Given the description of an element on the screen output the (x, y) to click on. 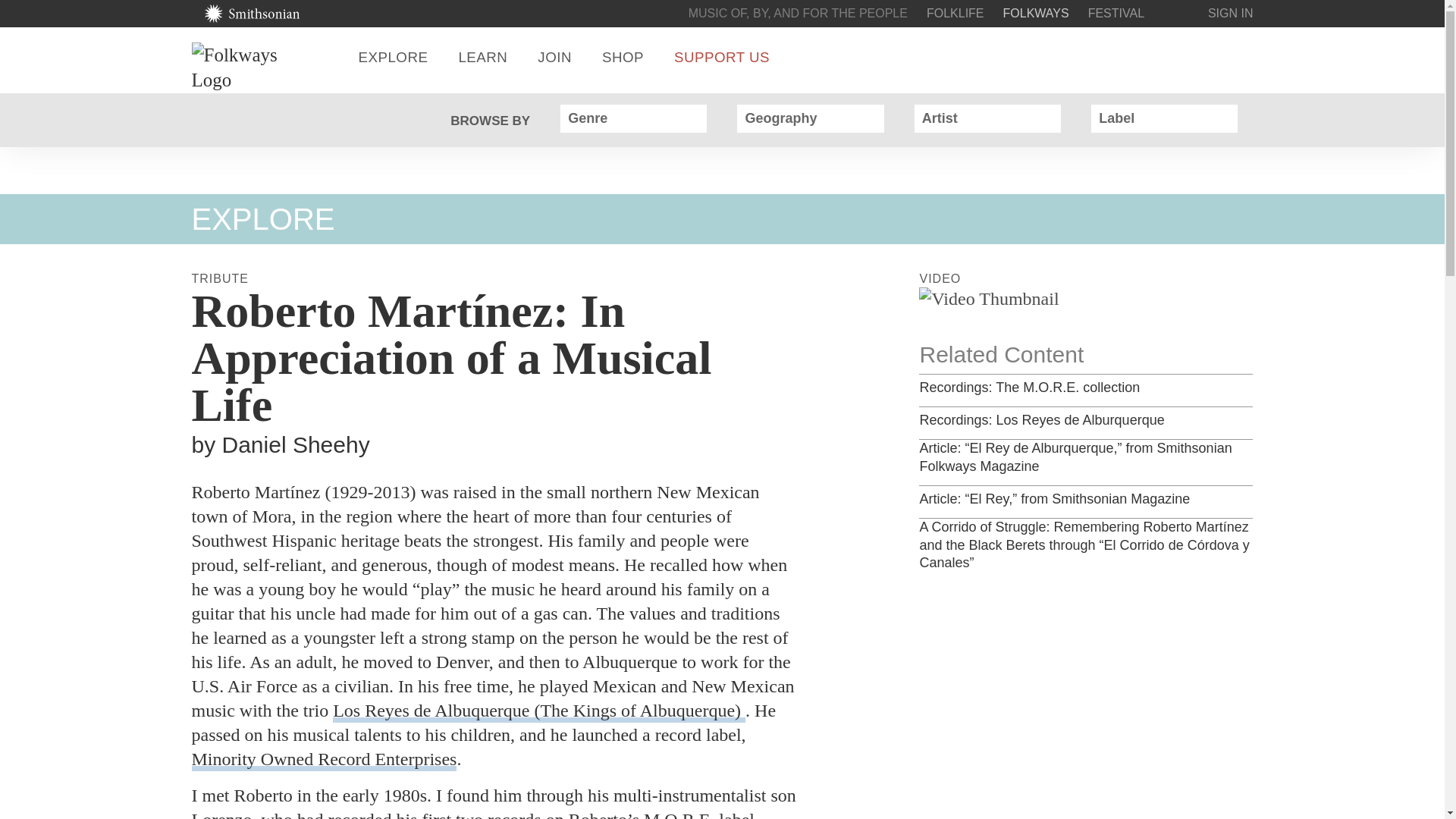
share (1198, 56)
FOLKWAYS (1035, 12)
menu (1243, 57)
menu (1244, 56)
SUPPORT US (722, 57)
SIGN IN (1230, 12)
search (1152, 57)
SHOP (622, 57)
basket (1177, 14)
LEARN (482, 57)
EXPLORE (393, 57)
FOLKLIFE (955, 12)
FESTIVAL (1115, 12)
Browse by Genre (689, 117)
share (1198, 57)
